Given the description of an element on the screen output the (x, y) to click on. 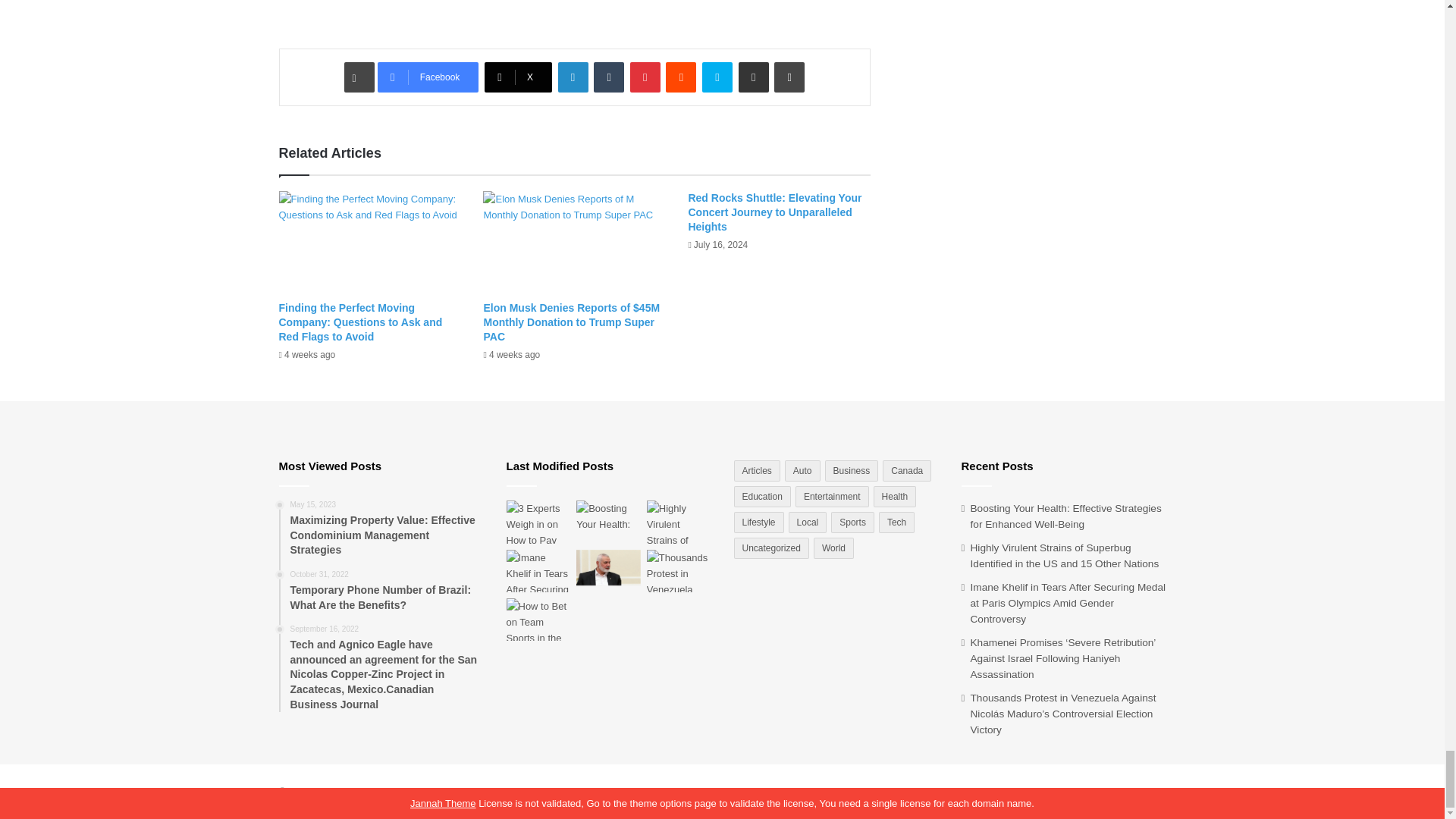
Facebook (428, 77)
Pinterest (645, 77)
Tumblr (609, 77)
LinkedIn (572, 77)
X (517, 77)
Reddit (680, 77)
Skype (716, 77)
